Given the description of an element on the screen output the (x, y) to click on. 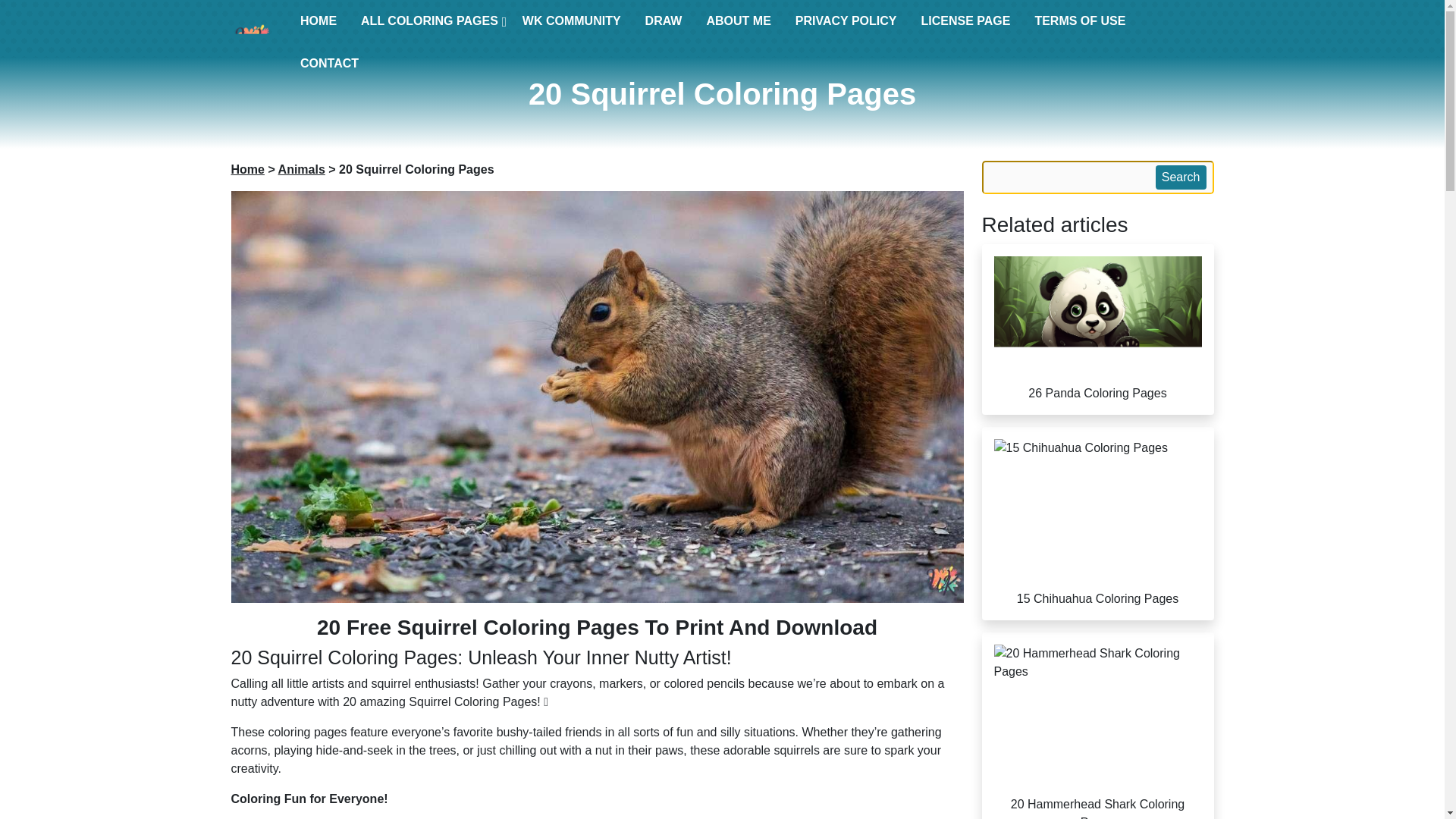
Search (1181, 177)
PRIVACY POLICY (845, 20)
HOME (318, 20)
20 Hammerhead Shark Coloring Pages (1096, 725)
Animals (301, 169)
CONTACT (329, 63)
15 Chihuahua Coloring Pages (1096, 522)
ALL COLORING PAGES (429, 20)
Home (246, 169)
